Given the description of an element on the screen output the (x, y) to click on. 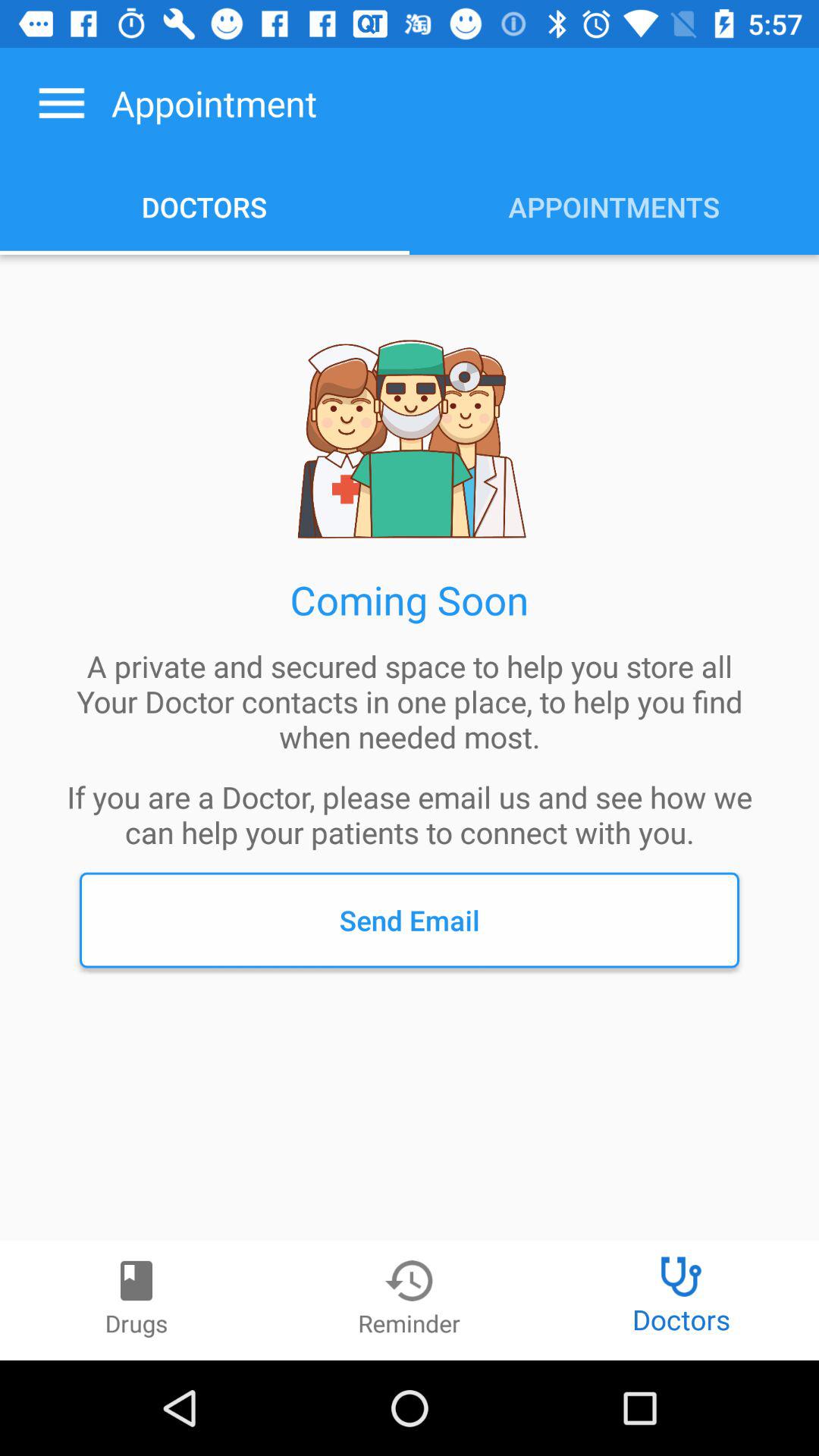
press icon to the left of appointment icon (61, 103)
